Given the description of an element on the screen output the (x, y) to click on. 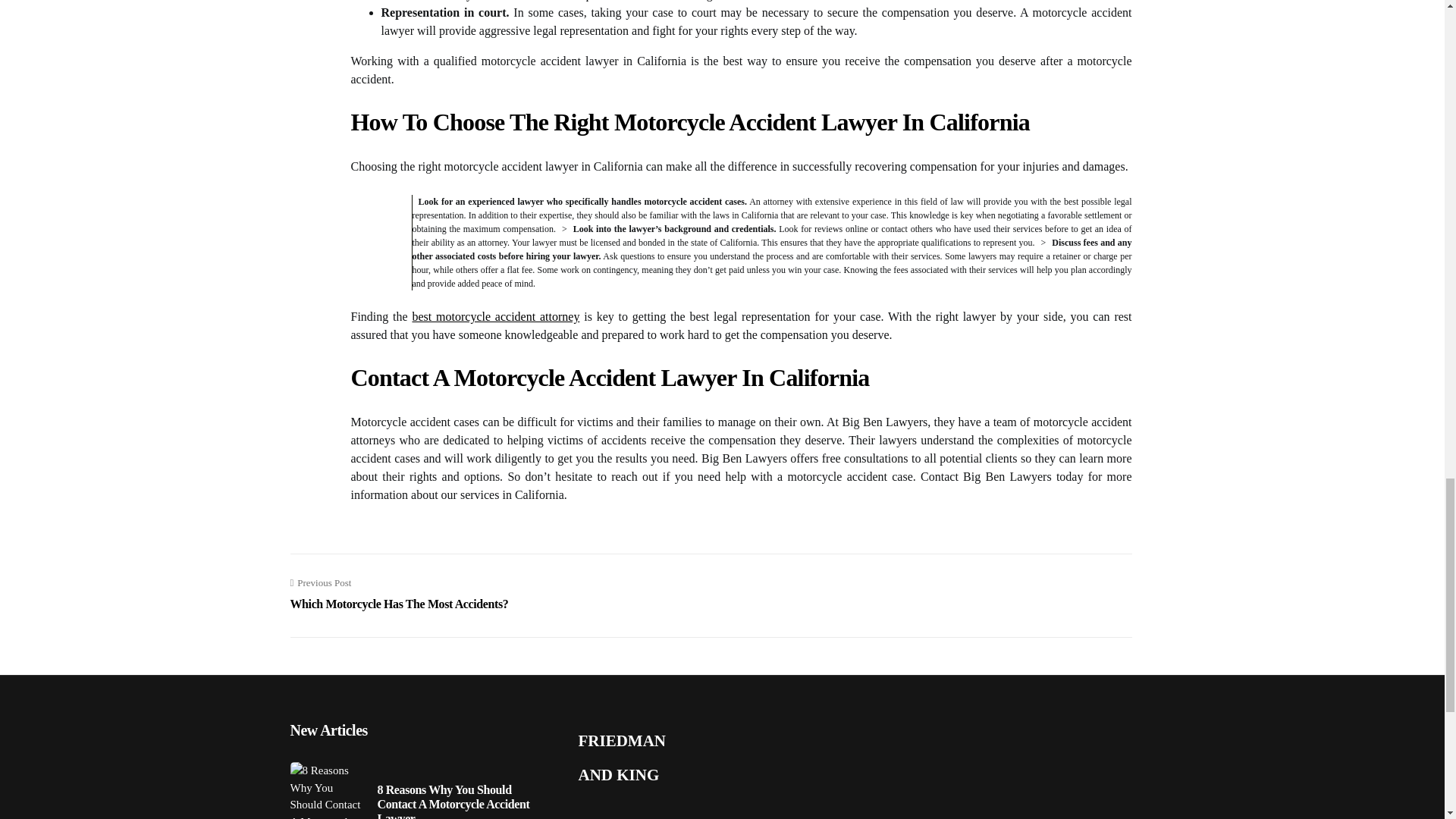
best motorcycle accident attorney (495, 316)
